Given the description of an element on the screen output the (x, y) to click on. 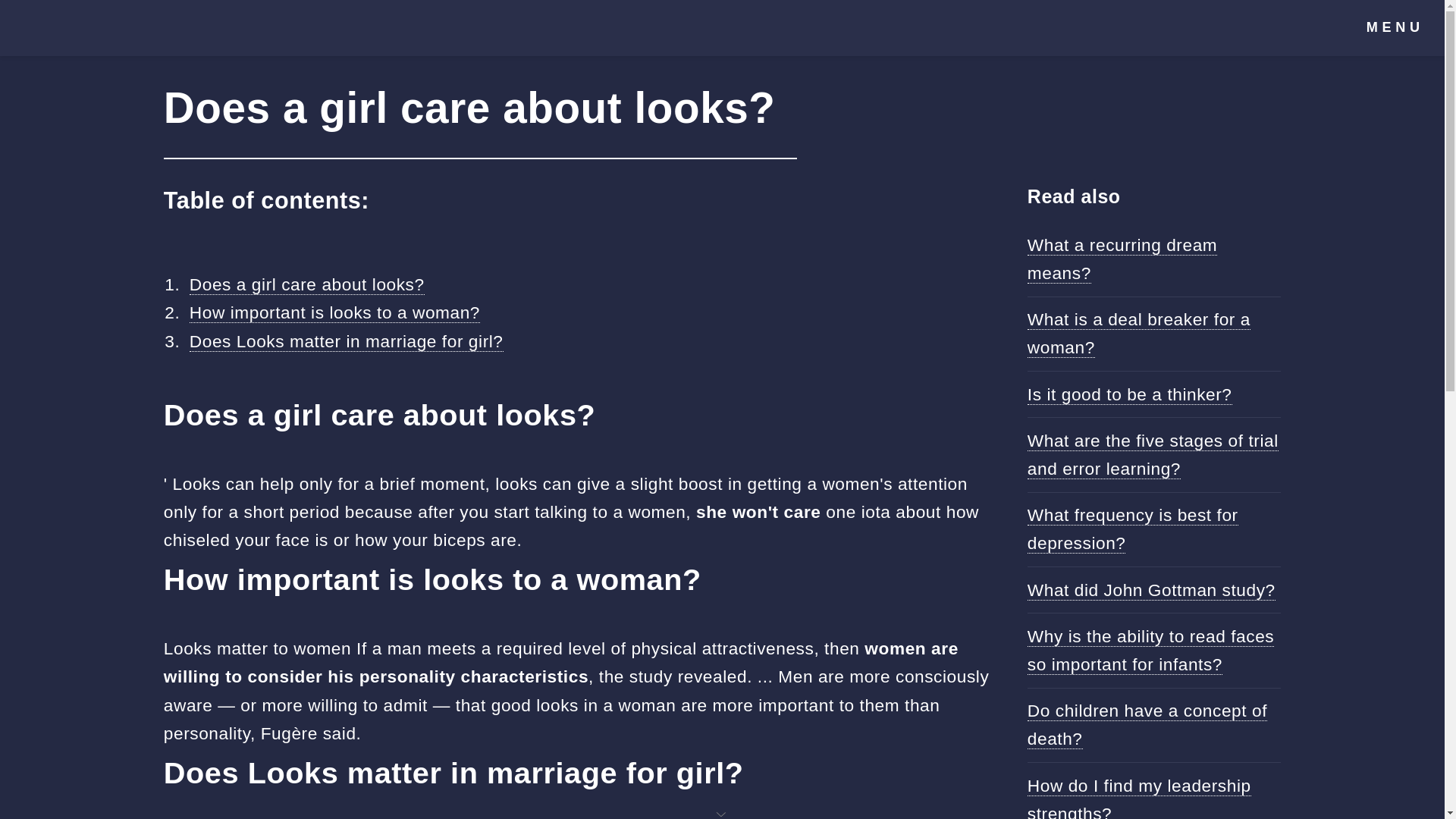
Does Looks matter in marriage for girl? (346, 341)
How important is looks to a woman? (334, 312)
Ad.Plus Advertising (722, 813)
How do I find my leadership strengths? (1138, 797)
What frequency is best for depression? (1133, 529)
Why is the ability to read faces so important for infants? (1150, 650)
What did John Gottman study? (1151, 589)
What a recurring dream means? (1122, 259)
Is it good to be a thinker? (1129, 394)
What is a deal breaker for a woman? (1138, 333)
What are the five stages of trial and error learning? (1152, 454)
Do children have a concept of death? (1146, 725)
Does a girl care about looks? (307, 284)
